Given the description of an element on the screen output the (x, y) to click on. 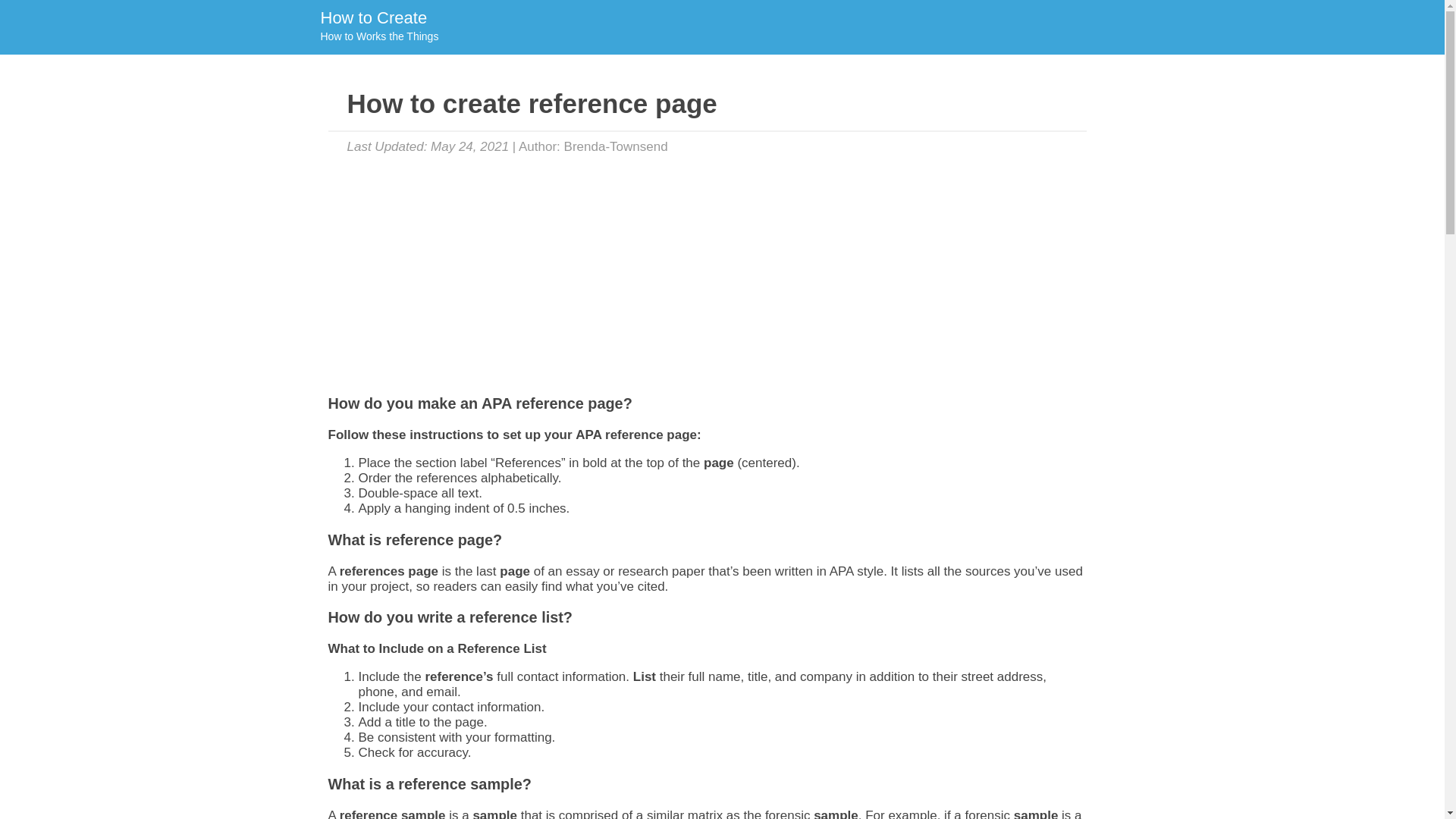
Brenda-Townsend (616, 146)
